Given the description of an element on the screen output the (x, y) to click on. 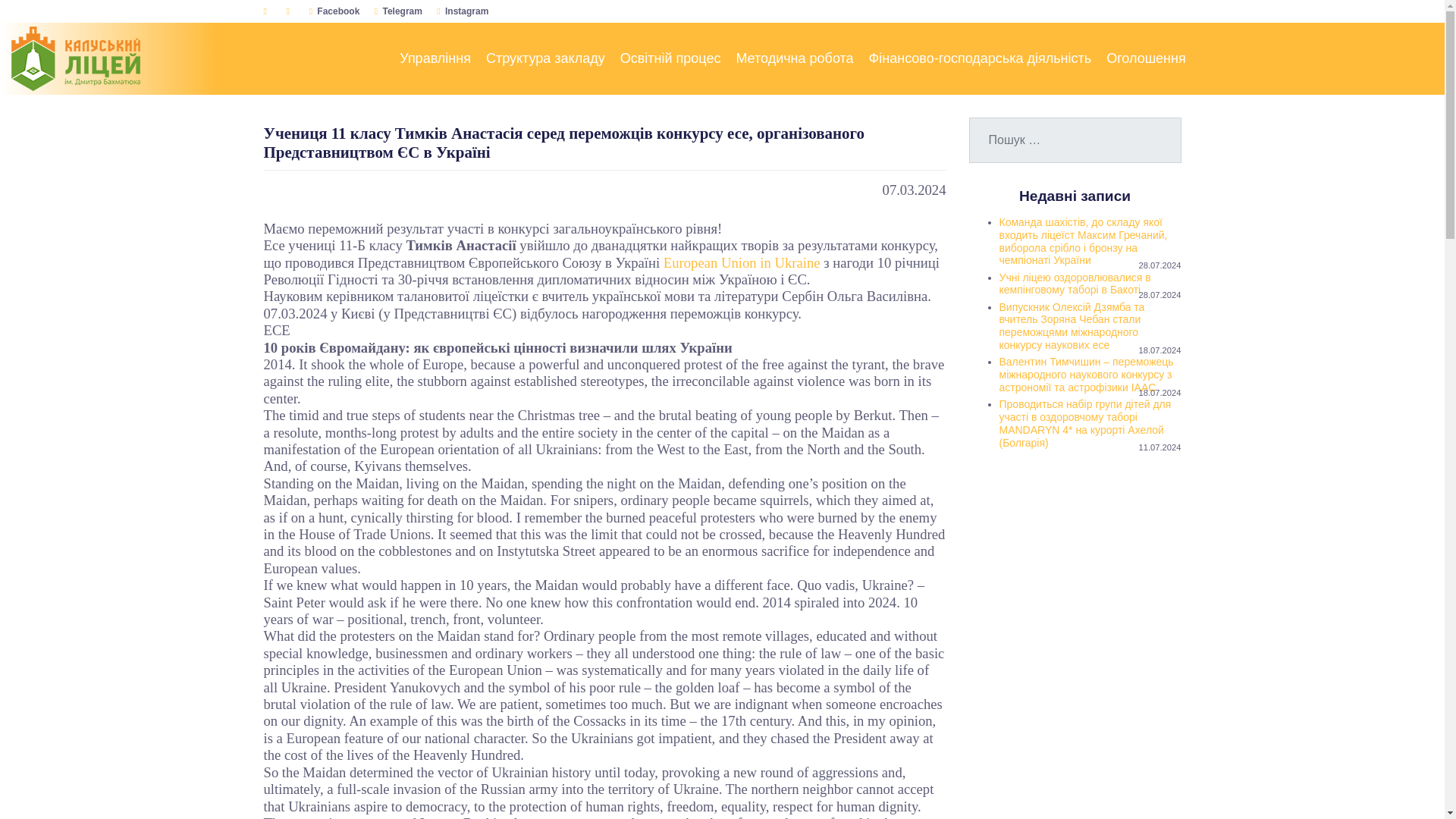
 Telegram (398, 10)
 Facebook (333, 10)
 Instagram (461, 10)
